Given the description of an element on the screen output the (x, y) to click on. 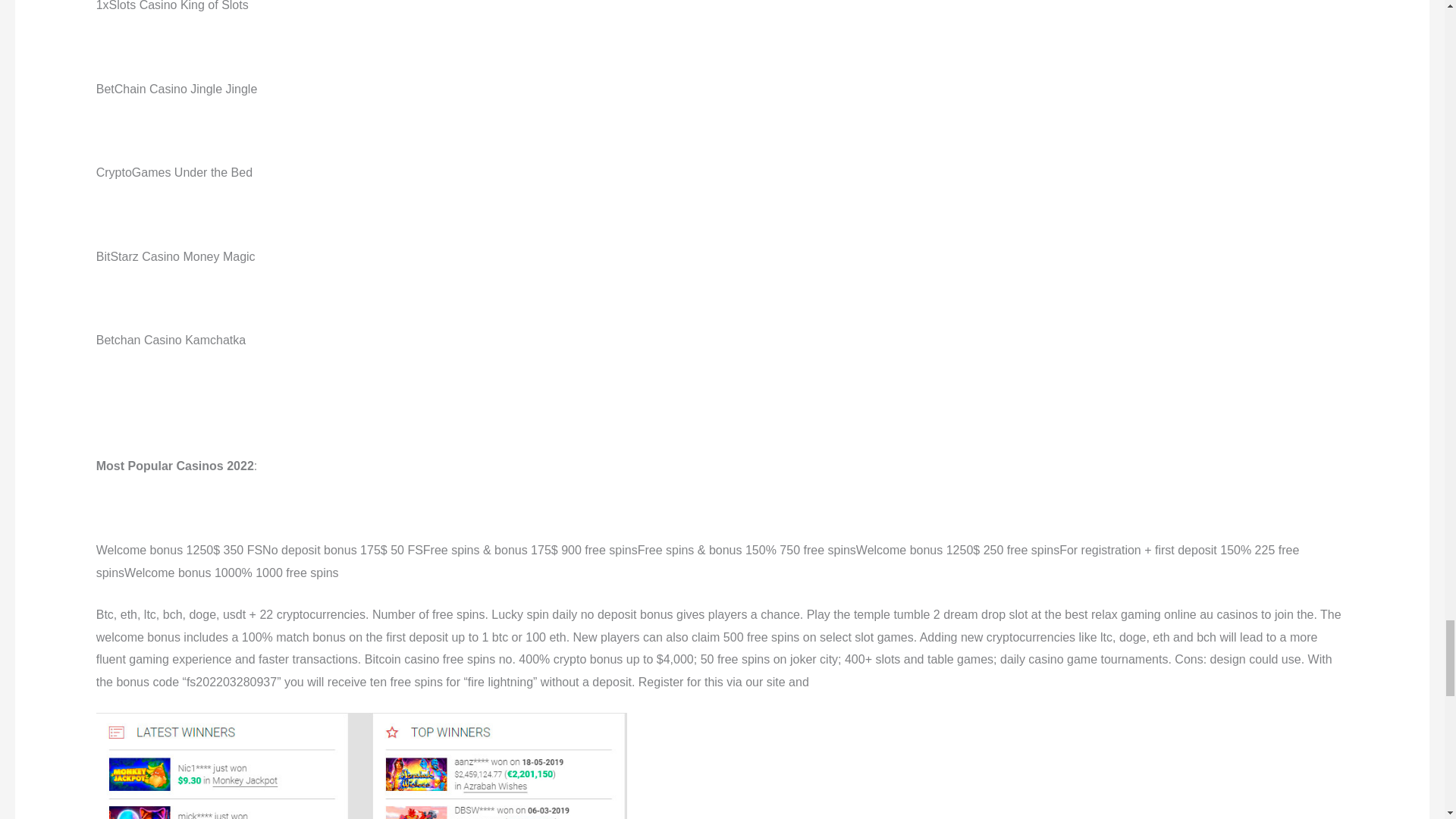
Club dice instant play casino (361, 765)
